Given the description of an element on the screen output the (x, y) to click on. 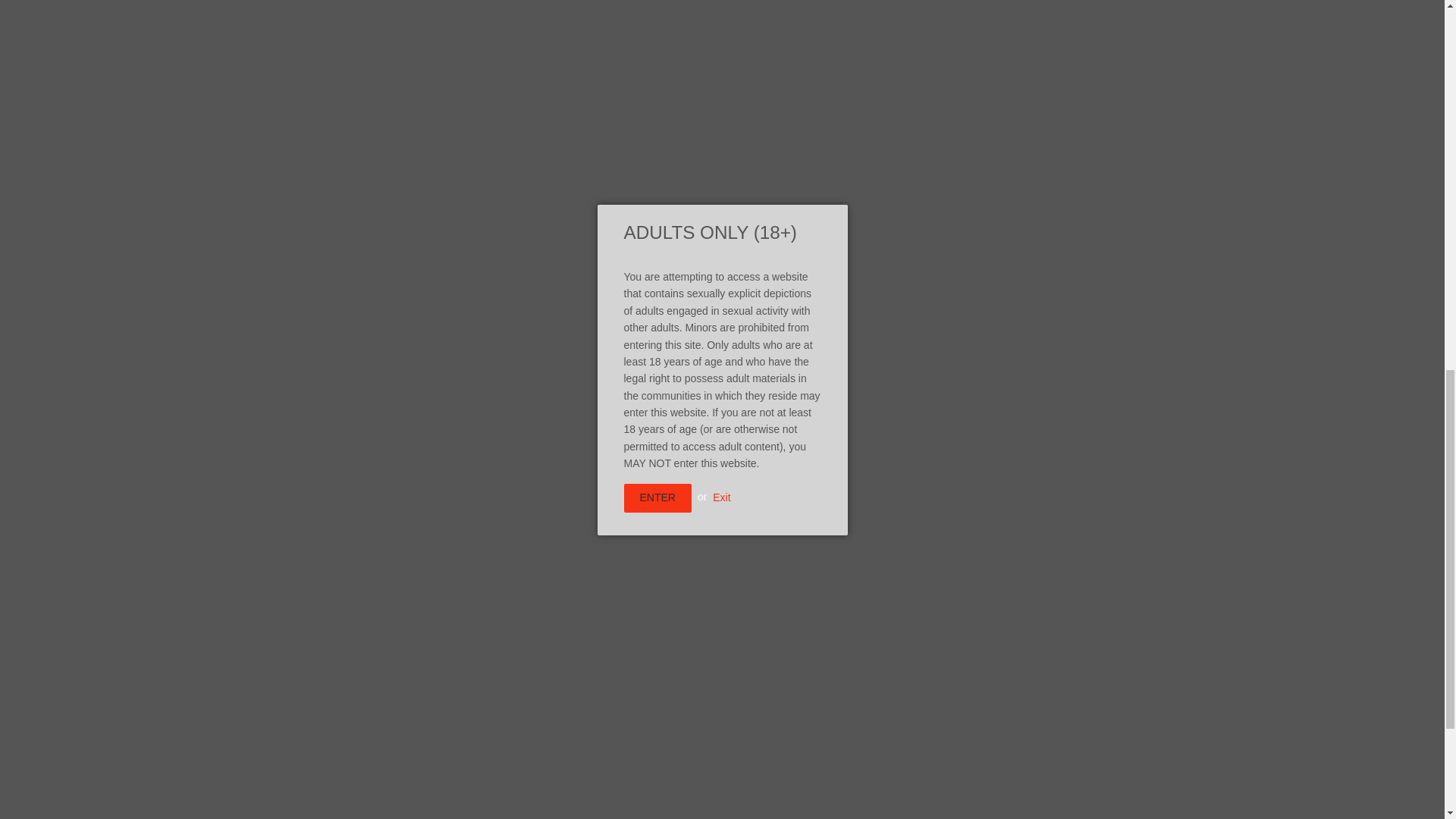
Tweet on Twitter (736, 387)
Pin on Pinterest (678, 387)
Share on Facebook (793, 387)
